Given the description of an element on the screen output the (x, y) to click on. 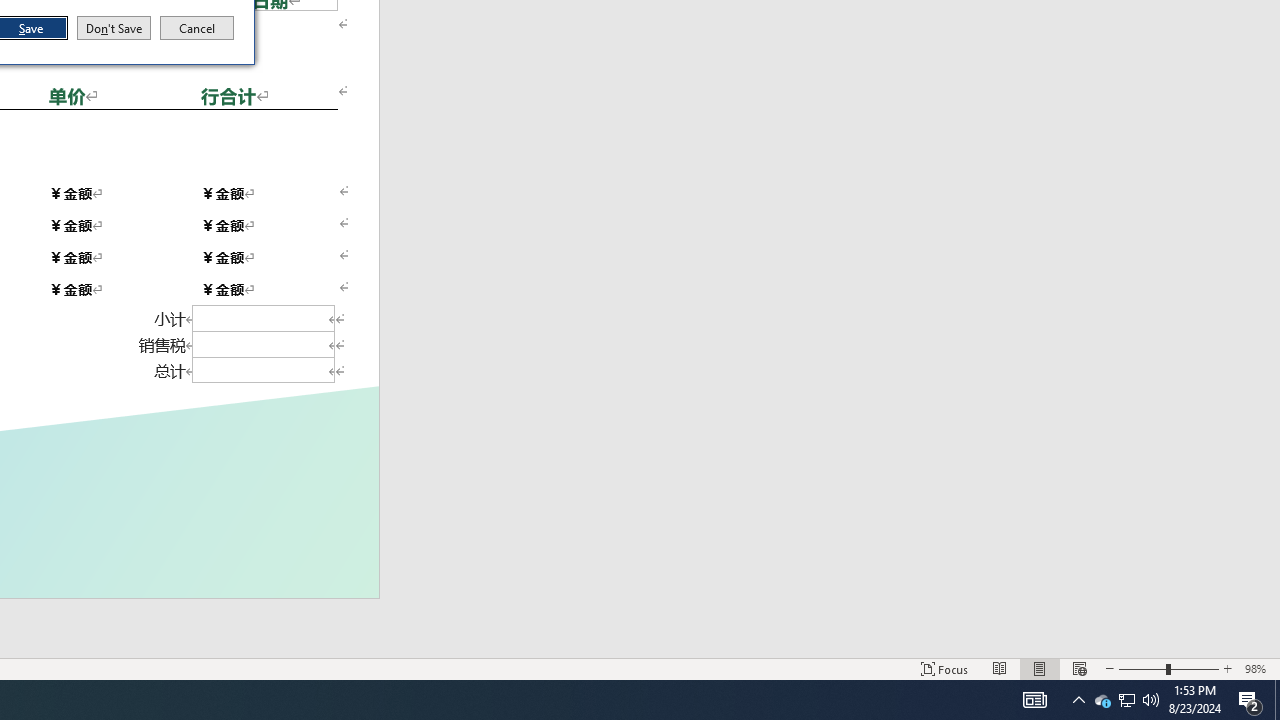
Notification Chevron (1078, 699)
Read Mode (1000, 668)
Show desktop (1277, 699)
Print Layout (1039, 668)
